Given the description of an element on the screen output the (x, y) to click on. 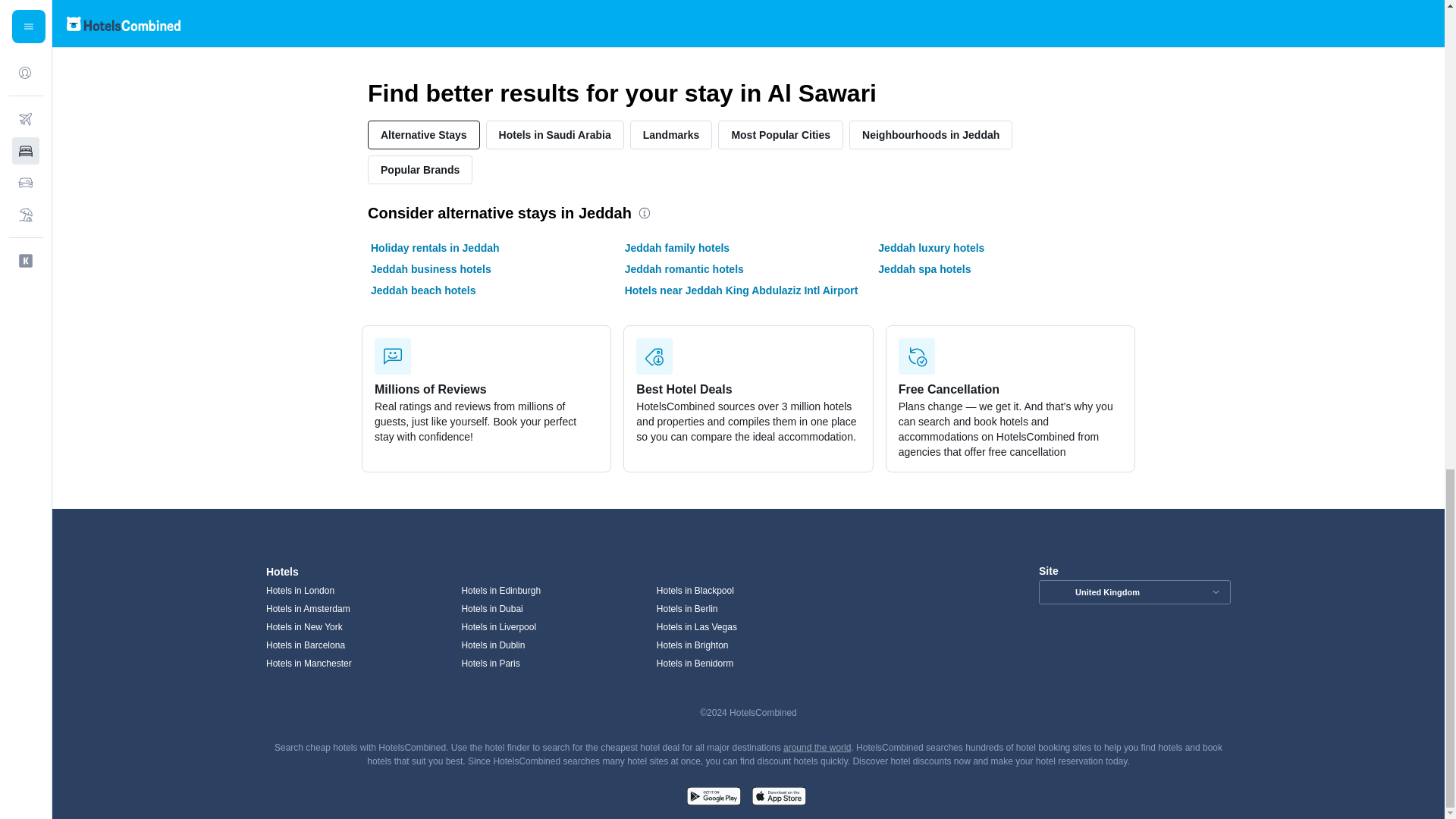
Jeddah romantic hotels (684, 268)
Jeddah business hotels (431, 268)
Neighbourhoods in Jeddah (929, 134)
Jeddah beach hotels (423, 290)
Most Popular Cities (780, 134)
Download on the App Store (778, 797)
Hotels near Jeddah King Abdulaziz Intl Airport (741, 290)
Jeddah spa hotels (924, 268)
Alternative Stays (424, 134)
Jeddah luxury hotels (930, 247)
